Given the description of an element on the screen output the (x, y) to click on. 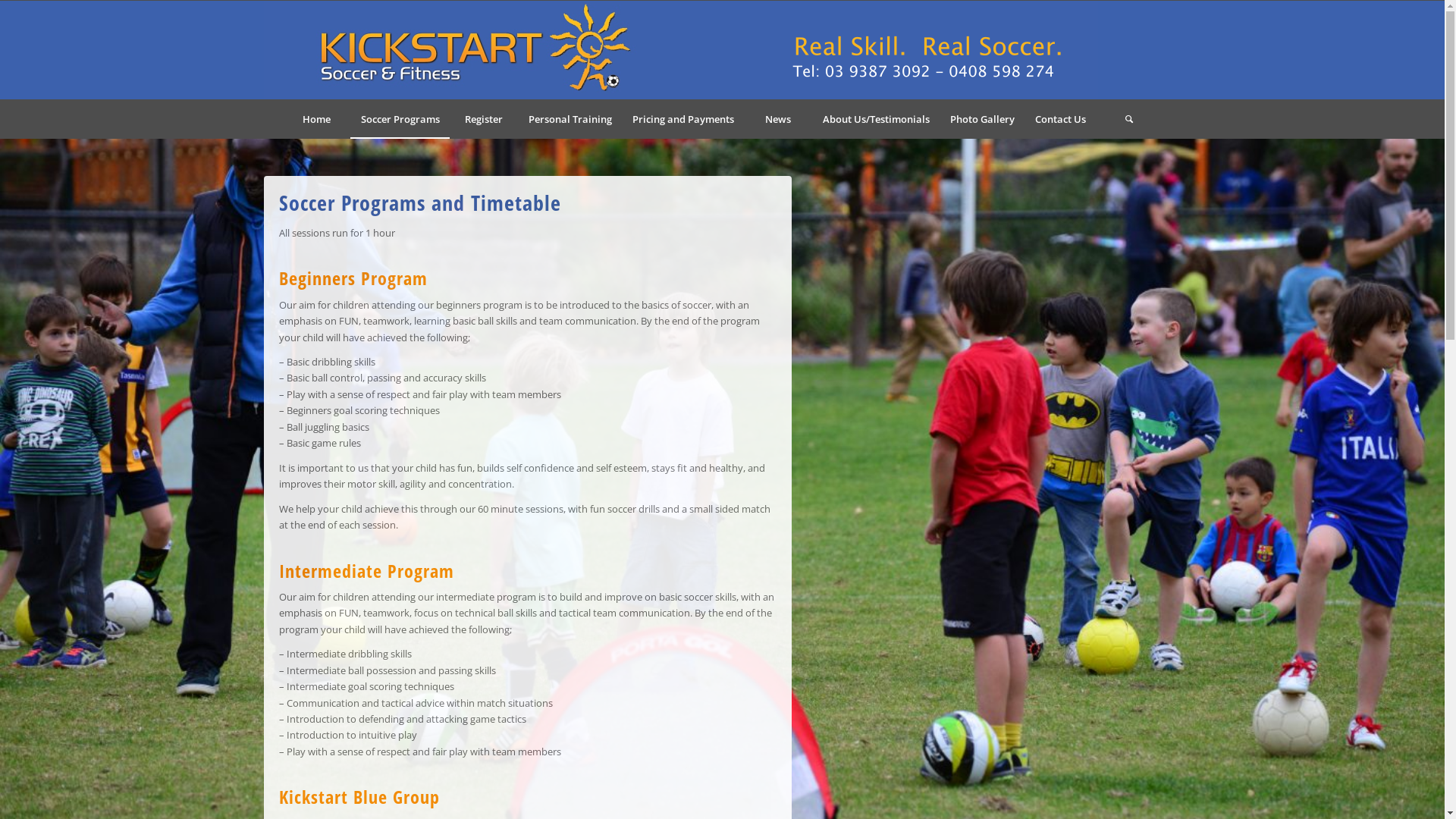
Contact Us Element type: text (1059, 119)
Register Element type: text (482, 119)
Pricing and Payments Element type: text (682, 119)
News Element type: text (777, 119)
About Us/Testimonials Element type: text (874, 119)
KickstartHeader2a Element type: hover (680, 49)
Personal Training Element type: text (569, 119)
Home Element type: text (316, 119)
Soccer Programs Element type: text (399, 119)
Photo Gallery Element type: text (980, 119)
